Given the description of an element on the screen output the (x, y) to click on. 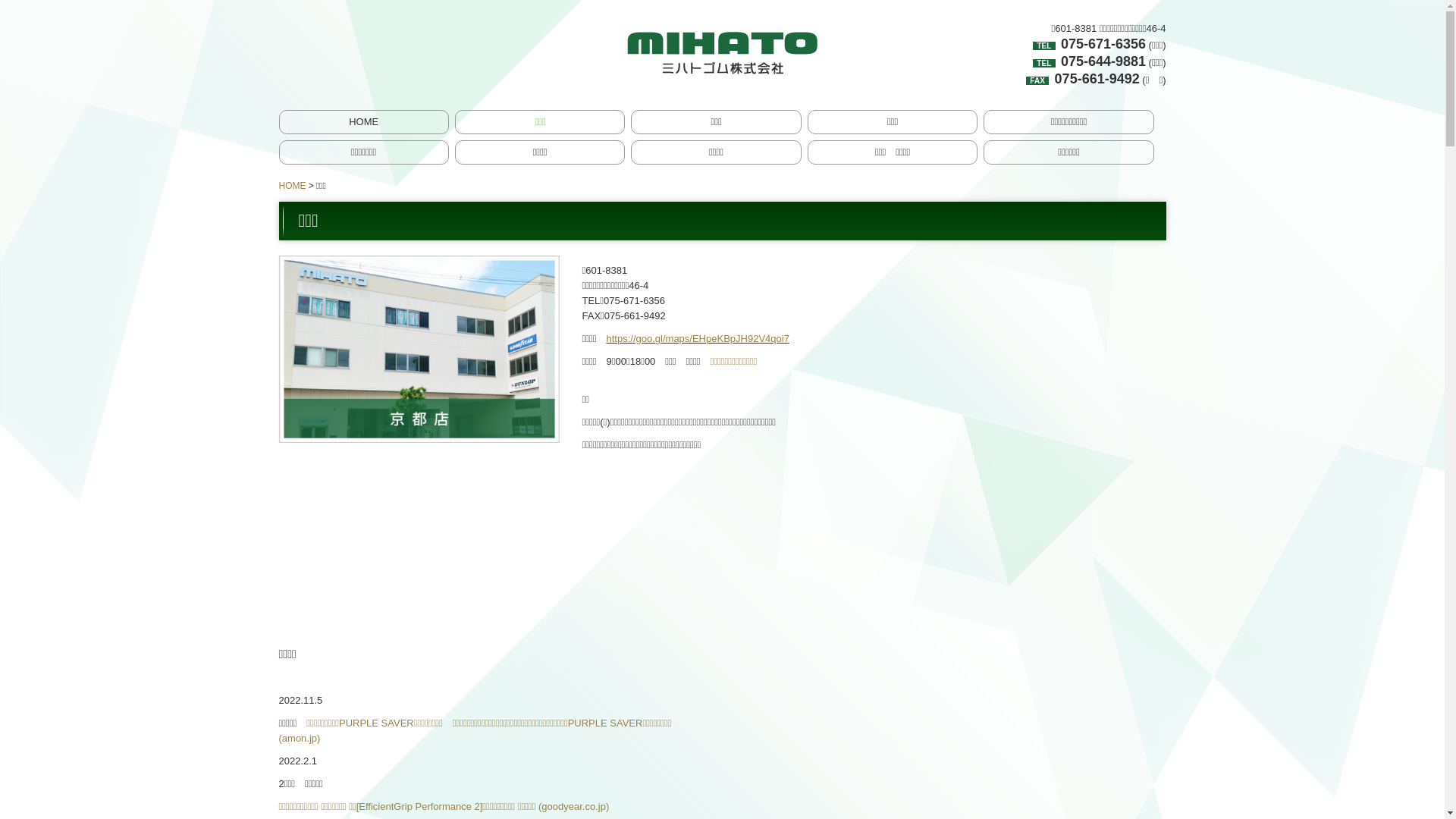
https://goo.gl/maps/EHpeKBpJH92V4qoi7 Element type: text (697, 338)
HOME Element type: text (363, 121)
HOME Element type: text (292, 185)
